Given the description of an element on the screen output the (x, y) to click on. 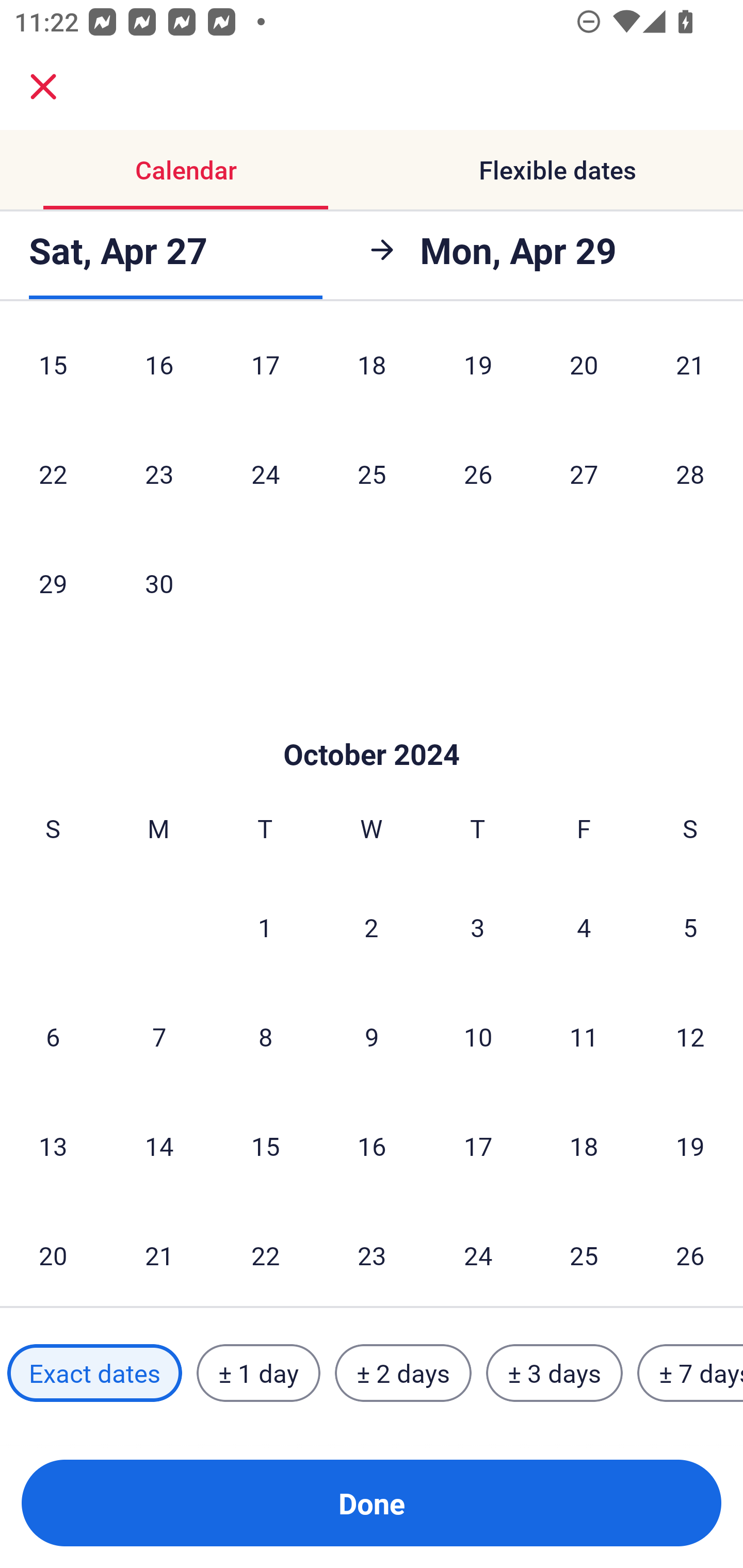
close. (43, 86)
Flexible dates (557, 170)
15 Sunday, September 15, 2024 (53, 373)
16 Monday, September 16, 2024 (159, 373)
17 Tuesday, September 17, 2024 (265, 373)
18 Wednesday, September 18, 2024 (371, 373)
19 Thursday, September 19, 2024 (477, 373)
20 Friday, September 20, 2024 (584, 373)
21 Saturday, September 21, 2024 (690, 373)
22 Sunday, September 22, 2024 (53, 473)
23 Monday, September 23, 2024 (159, 473)
24 Tuesday, September 24, 2024 (265, 473)
25 Wednesday, September 25, 2024 (371, 473)
26 Thursday, September 26, 2024 (477, 473)
27 Friday, September 27, 2024 (584, 473)
28 Saturday, September 28, 2024 (690, 473)
29 Sunday, September 29, 2024 (53, 582)
30 Monday, September 30, 2024 (159, 582)
Skip to Done (371, 723)
1 Tuesday, October 1, 2024 (264, 927)
2 Wednesday, October 2, 2024 (371, 927)
3 Thursday, October 3, 2024 (477, 927)
4 Friday, October 4, 2024 (584, 927)
5 Saturday, October 5, 2024 (690, 927)
6 Sunday, October 6, 2024 (53, 1036)
7 Monday, October 7, 2024 (159, 1036)
8 Tuesday, October 8, 2024 (265, 1036)
9 Wednesday, October 9, 2024 (371, 1036)
10 Thursday, October 10, 2024 (477, 1036)
11 Friday, October 11, 2024 (584, 1036)
12 Saturday, October 12, 2024 (690, 1036)
13 Sunday, October 13, 2024 (53, 1144)
14 Monday, October 14, 2024 (159, 1144)
15 Tuesday, October 15, 2024 (265, 1144)
16 Wednesday, October 16, 2024 (371, 1144)
17 Thursday, October 17, 2024 (477, 1144)
18 Friday, October 18, 2024 (584, 1144)
19 Saturday, October 19, 2024 (690, 1144)
20 Sunday, October 20, 2024 (53, 1254)
21 Monday, October 21, 2024 (159, 1254)
22 Tuesday, October 22, 2024 (265, 1254)
23 Wednesday, October 23, 2024 (371, 1254)
24 Thursday, October 24, 2024 (477, 1254)
25 Friday, October 25, 2024 (584, 1254)
26 Saturday, October 26, 2024 (690, 1254)
Exact dates (94, 1372)
± 1 day (258, 1372)
± 2 days (403, 1372)
± 3 days (553, 1372)
± 7 days (690, 1372)
Done (371, 1502)
